Given the description of an element on the screen output the (x, y) to click on. 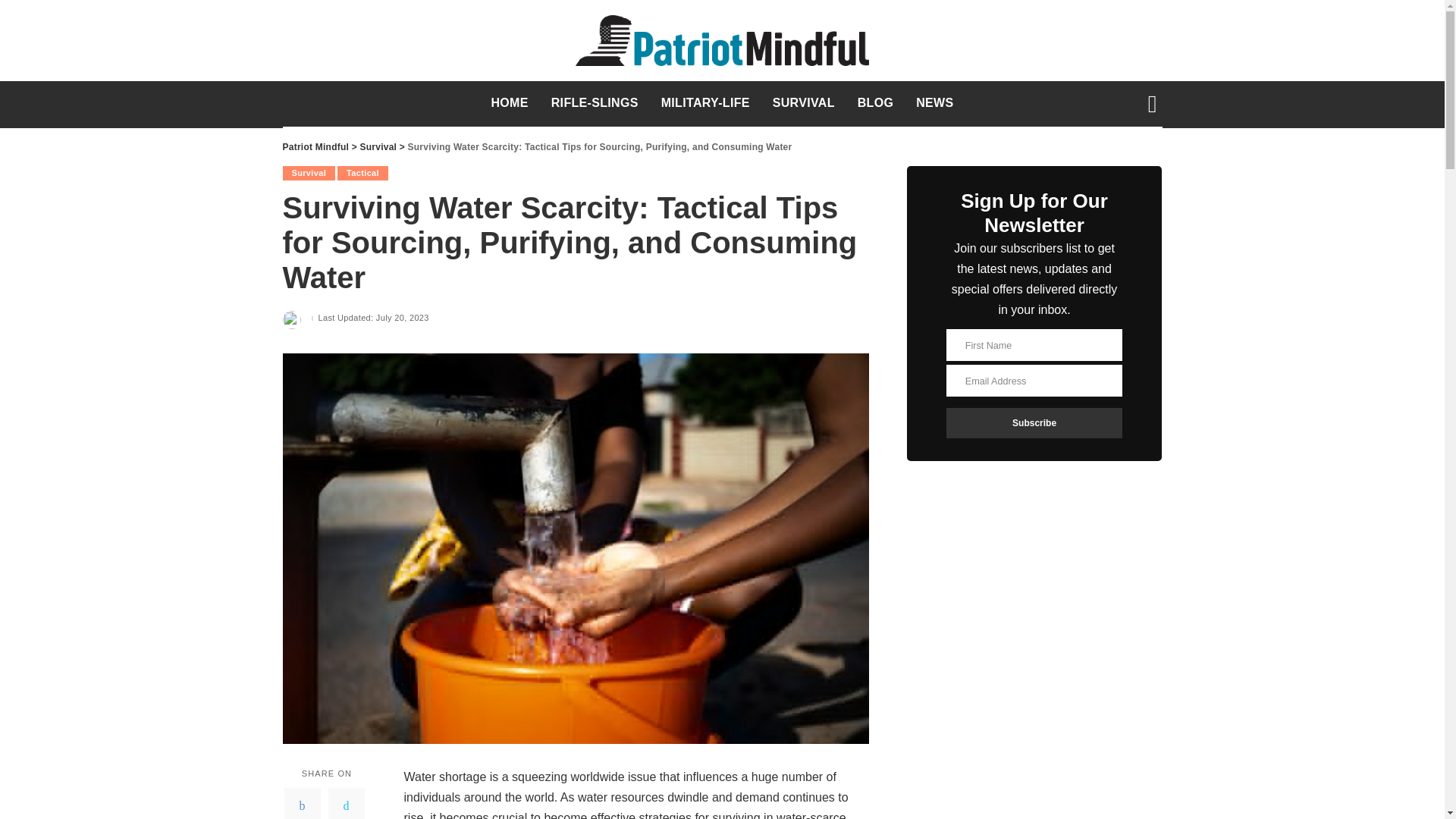
Patriot Mindful (722, 40)
Search (1140, 159)
Search (1140, 12)
Survival (308, 173)
SURVIVAL (803, 103)
Facebook (301, 803)
MILITARY-LIFE (705, 103)
Go to Patriot Mindful. (315, 145)
Subscribe (1034, 422)
BLOG (875, 103)
Survival (377, 145)
NEWS (933, 103)
Twitter (345, 803)
HOME (508, 103)
Go to the Survival Category archives. (377, 145)
